Given the description of an element on the screen output the (x, y) to click on. 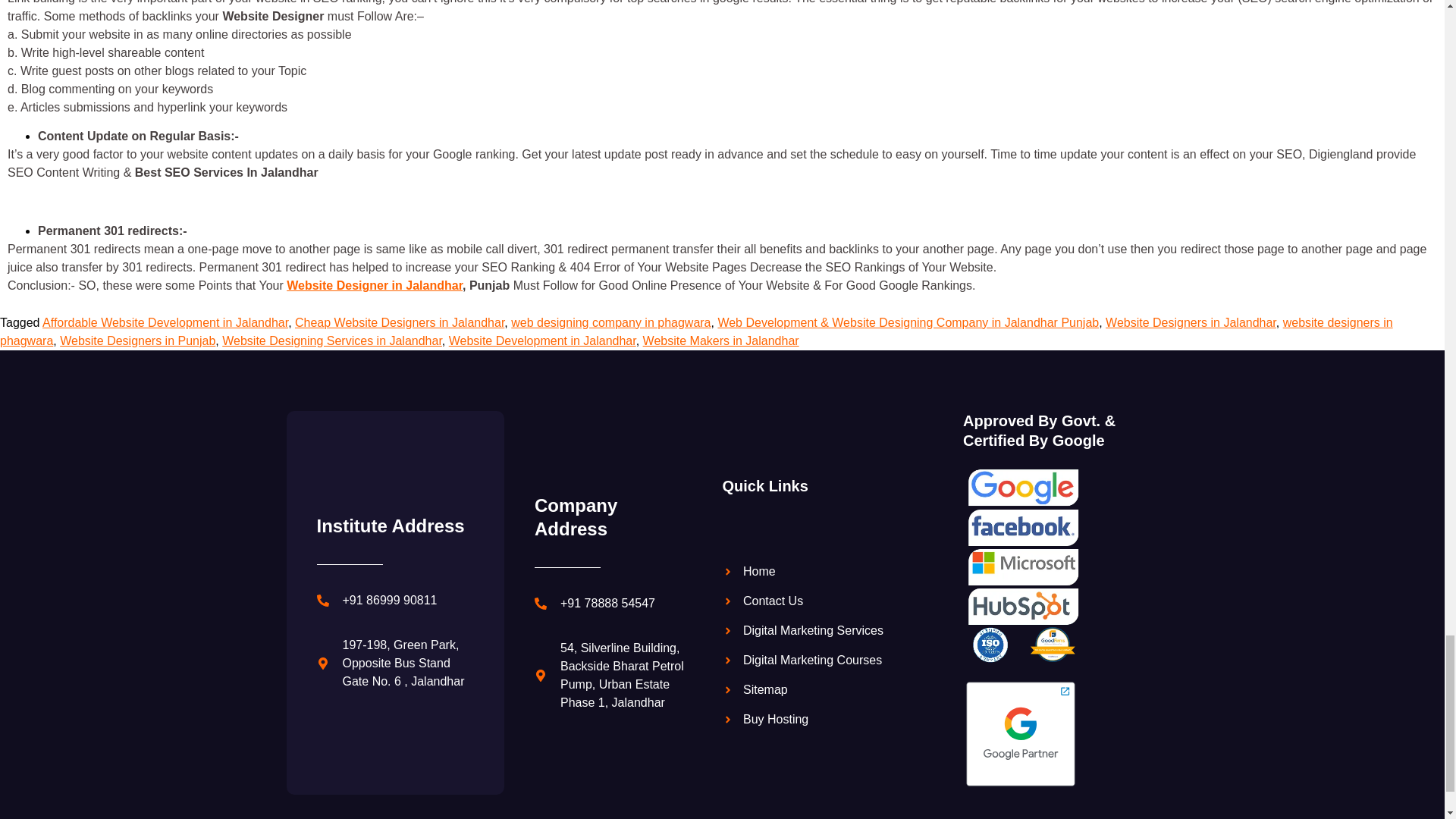
Website Designer in Jalandhar (374, 285)
